Given the description of an element on the screen output the (x, y) to click on. 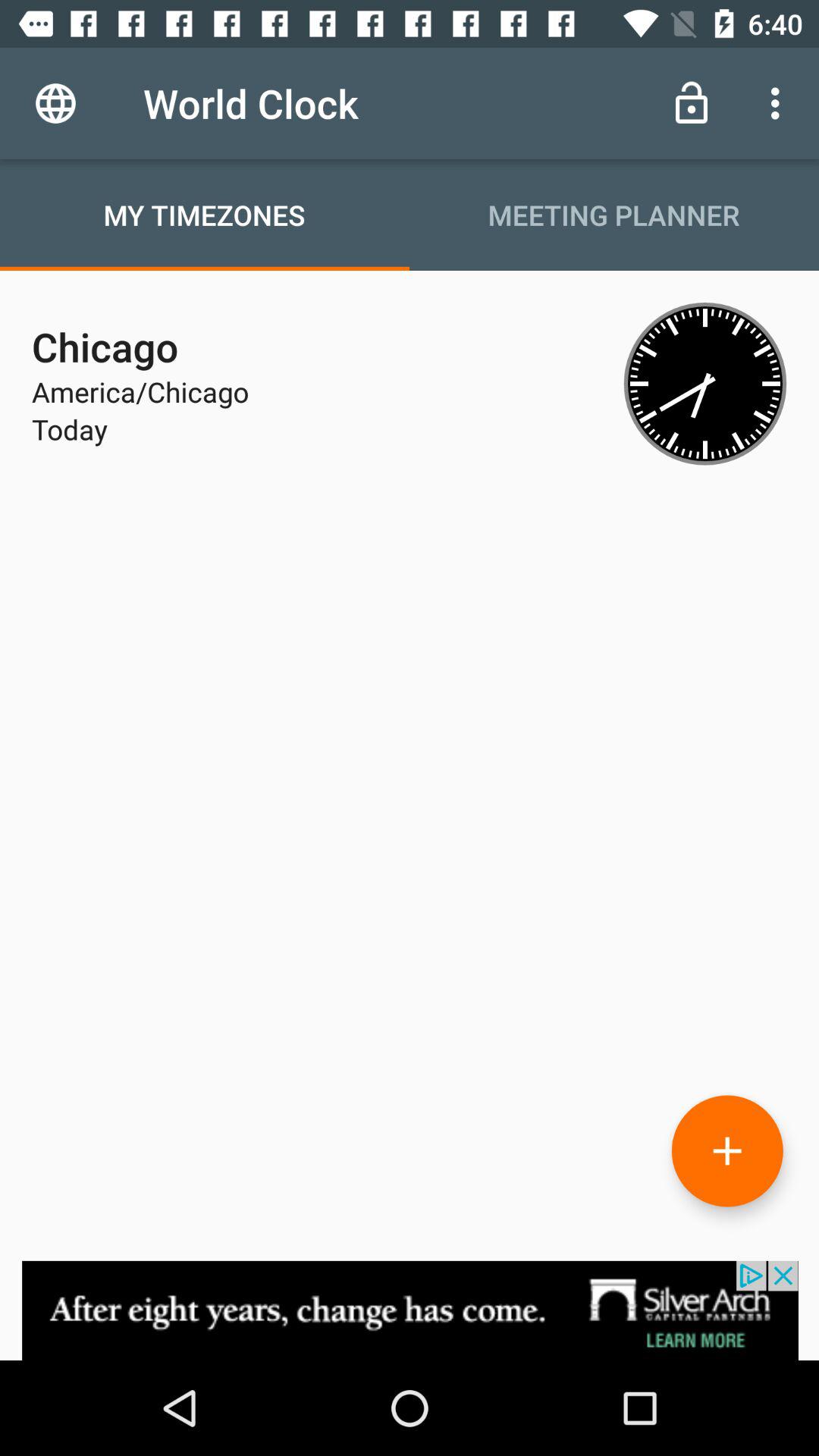
circle symbol option (727, 1150)
